Given the description of an element on the screen output the (x, y) to click on. 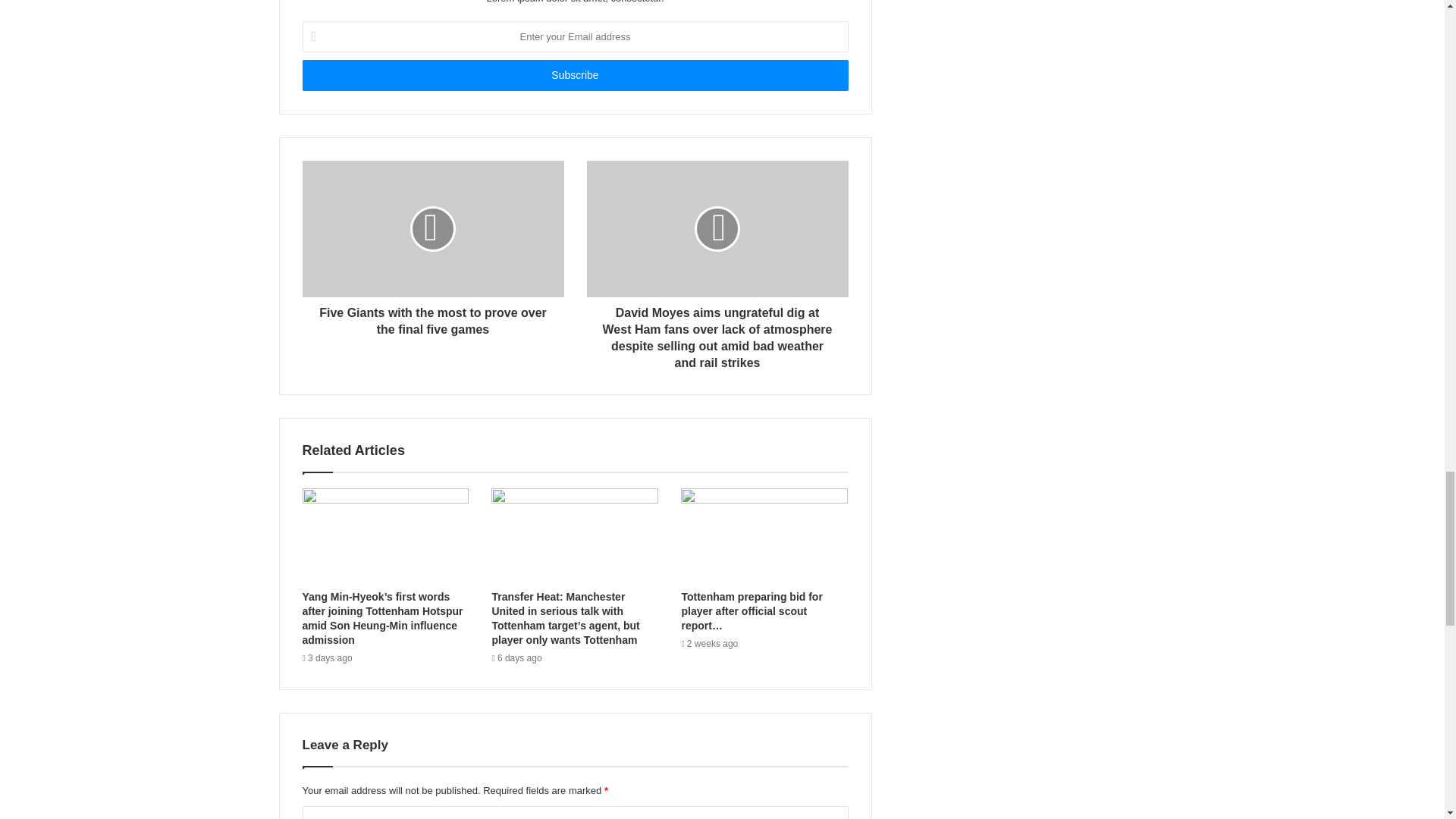
Subscribe (574, 74)
